Given the description of an element on the screen output the (x, y) to click on. 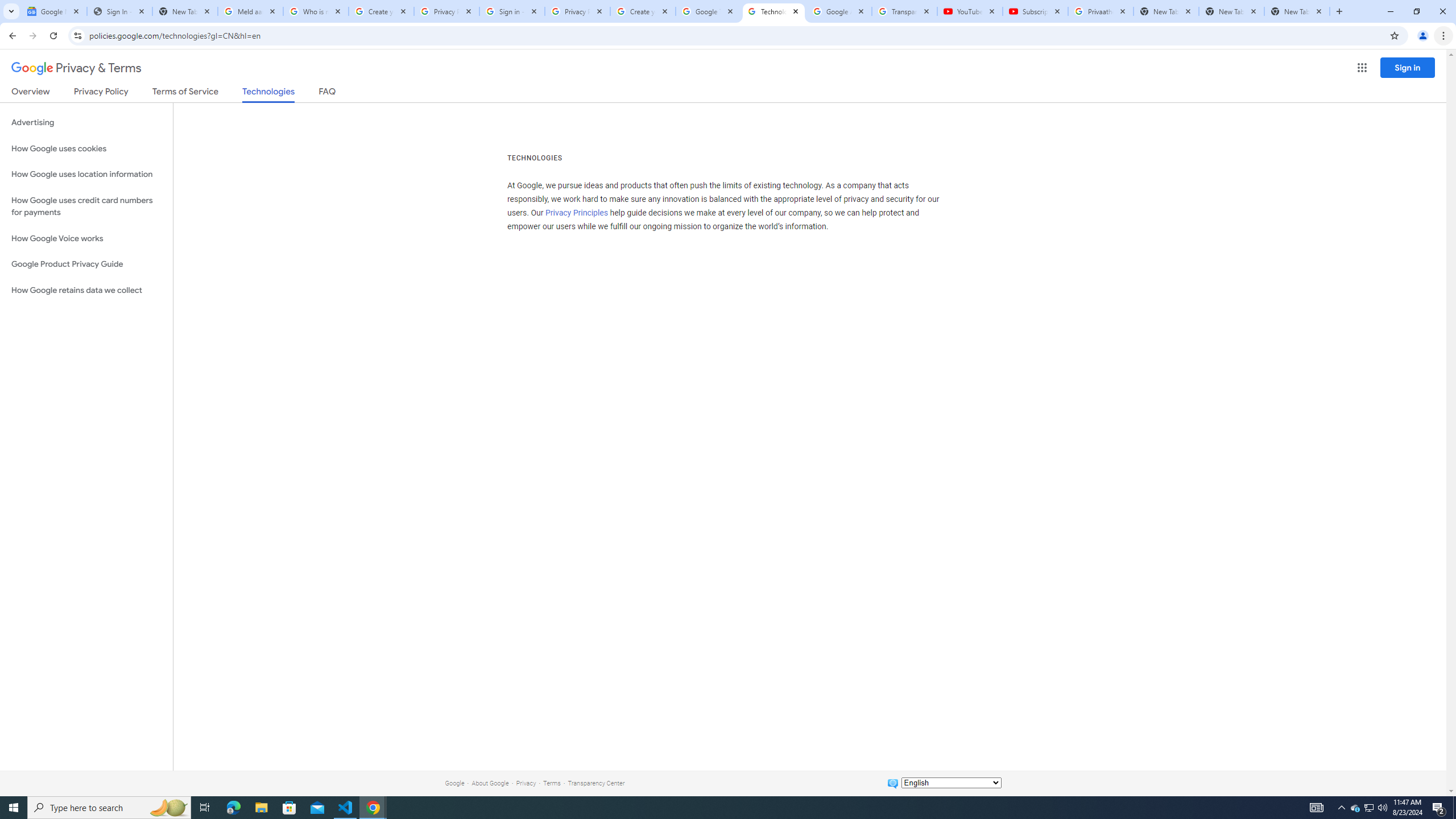
How Google uses cookies (86, 148)
Google apps (1362, 67)
Privacy Policy (100, 93)
Sign In - USA TODAY (119, 11)
Advertising (86, 122)
New Tab (1297, 11)
Address and search bar (735, 35)
Transparency Center (595, 783)
